Given the description of an element on the screen output the (x, y) to click on. 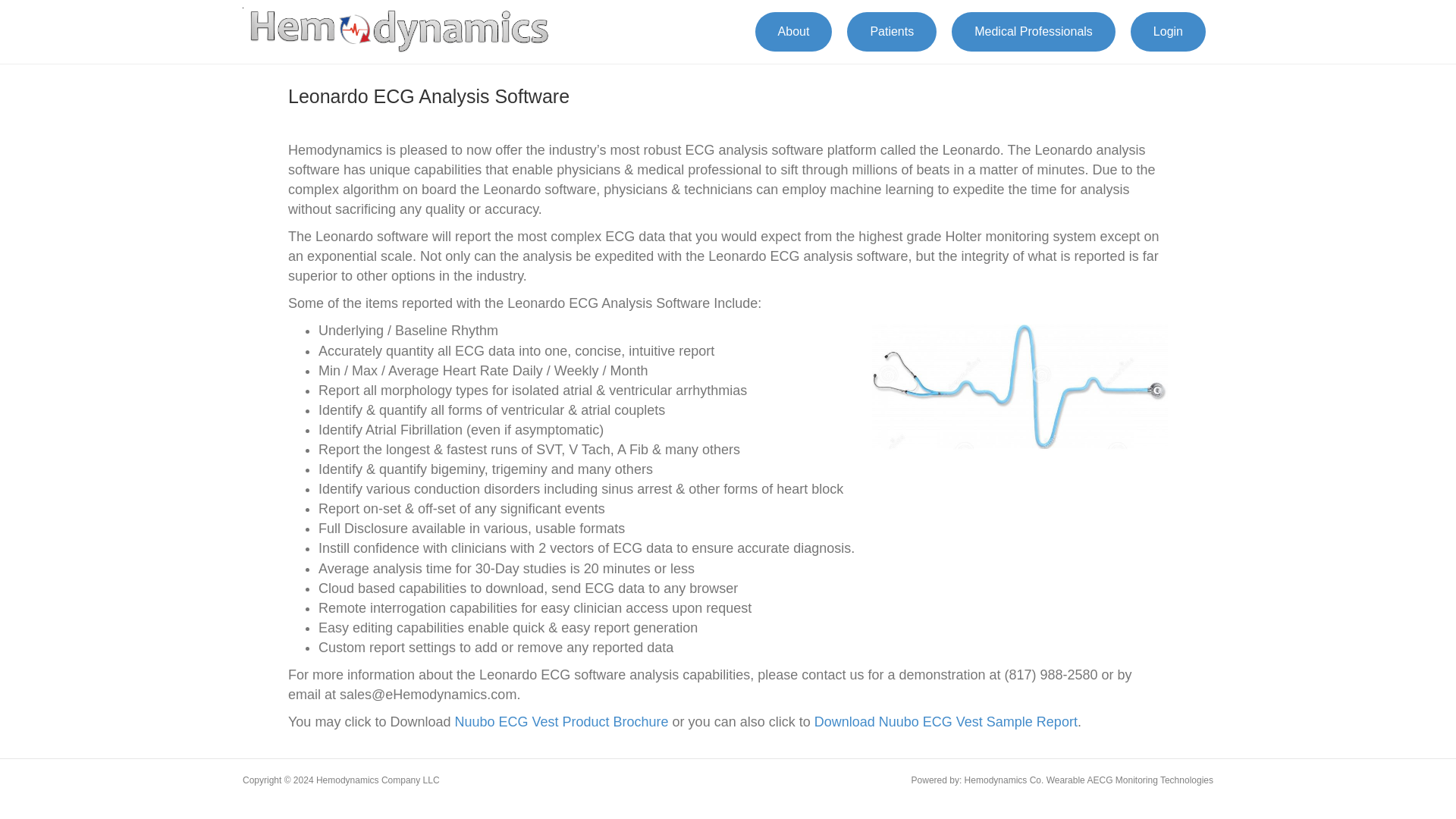
Medical Professionals (1033, 31)
About (793, 31)
Login (1168, 31)
Patients (891, 31)
